Given the description of an element on the screen output the (x, y) to click on. 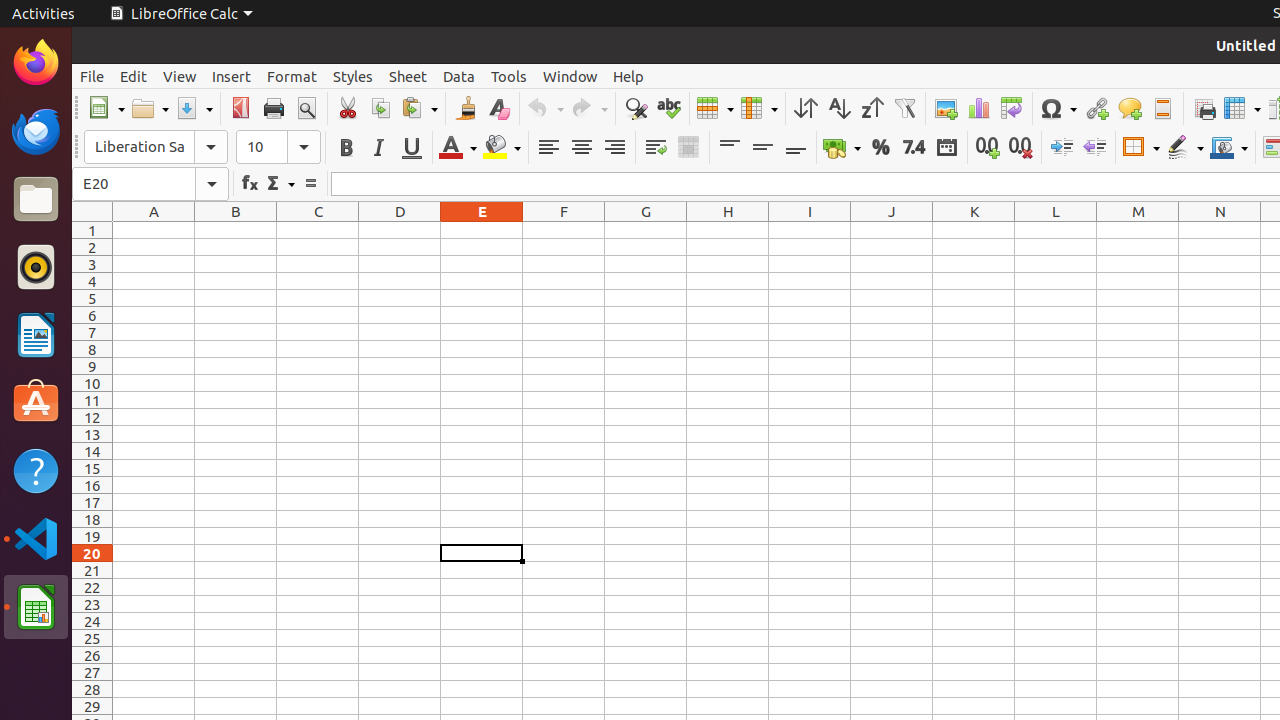
Print Element type: push-button (273, 108)
D1 Element type: table-cell (400, 230)
E1 Element type: table-cell (482, 230)
B1 Element type: table-cell (236, 230)
